Given the description of an element on the screen output the (x, y) to click on. 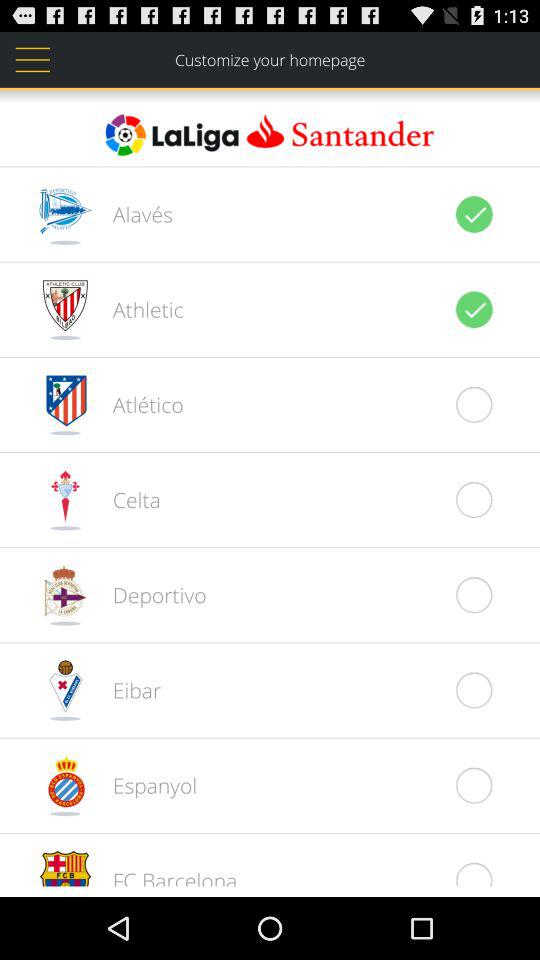
turn off athletic icon (137, 309)
